Given the description of an element on the screen output the (x, y) to click on. 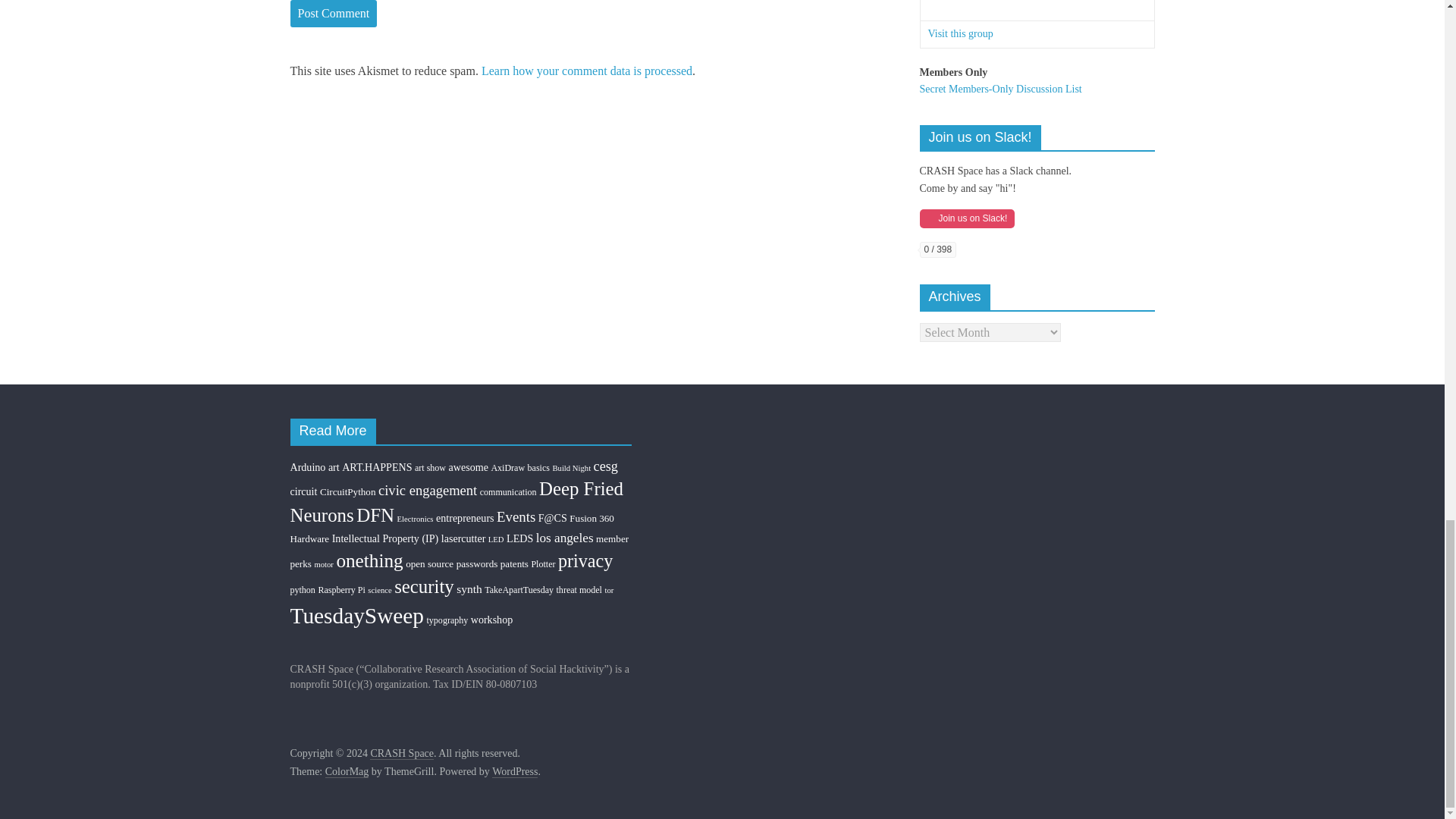
Post Comment (333, 13)
CRASH Space (401, 753)
WordPress (514, 771)
ColorMag (346, 771)
